Given the description of an element on the screen output the (x, y) to click on. 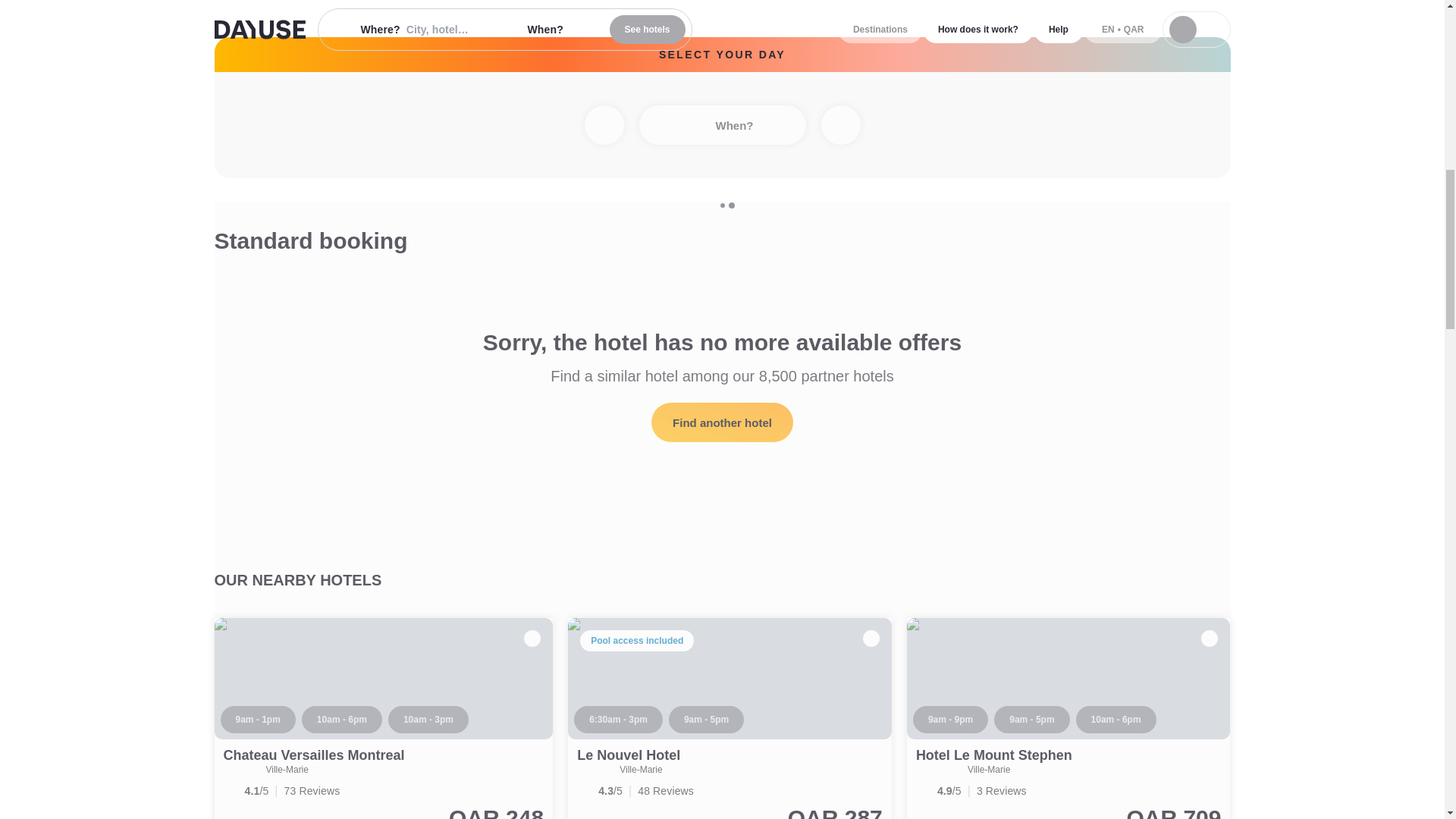
Le Nouvel Hotel (729, 718)
10am - 3pm (428, 719)
Chateau Versailles Montreal (313, 754)
Next day (840, 124)
Le Nouvel Hotel (627, 754)
When? (722, 124)
9am - 1pm (257, 719)
10am - 6pm (341, 719)
Hotel Le Mount Stephen (993, 754)
Chateau Versailles Montreal (383, 718)
Hotel Le Mount Stephen (1068, 718)
Previous day (603, 124)
Find another hotel (721, 422)
Chateau Versailles Montreal (313, 754)
